Given the description of an element on the screen output the (x, y) to click on. 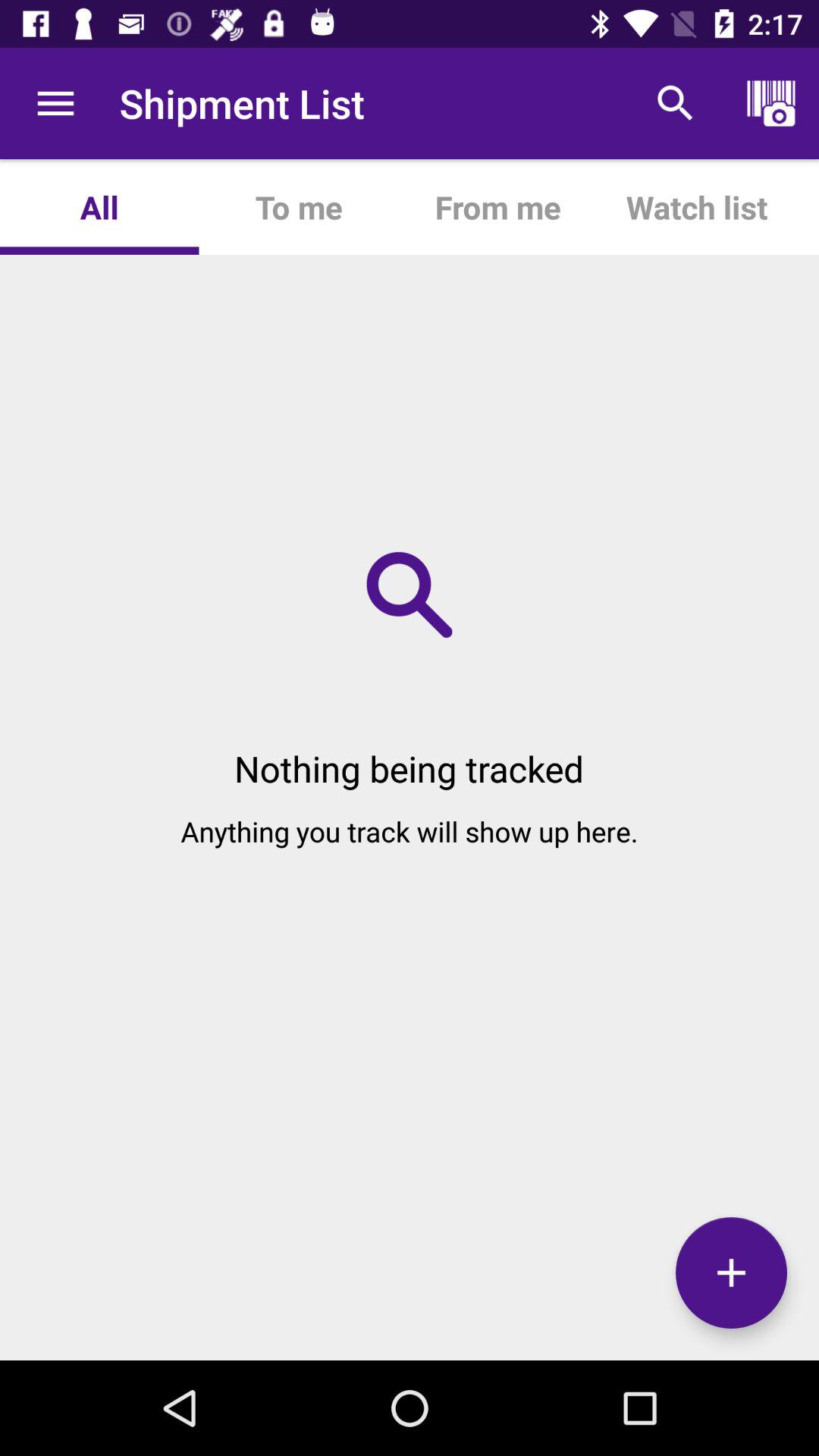
open the icon below the shipment list app (298, 206)
